Given the description of an element on the screen output the (x, y) to click on. 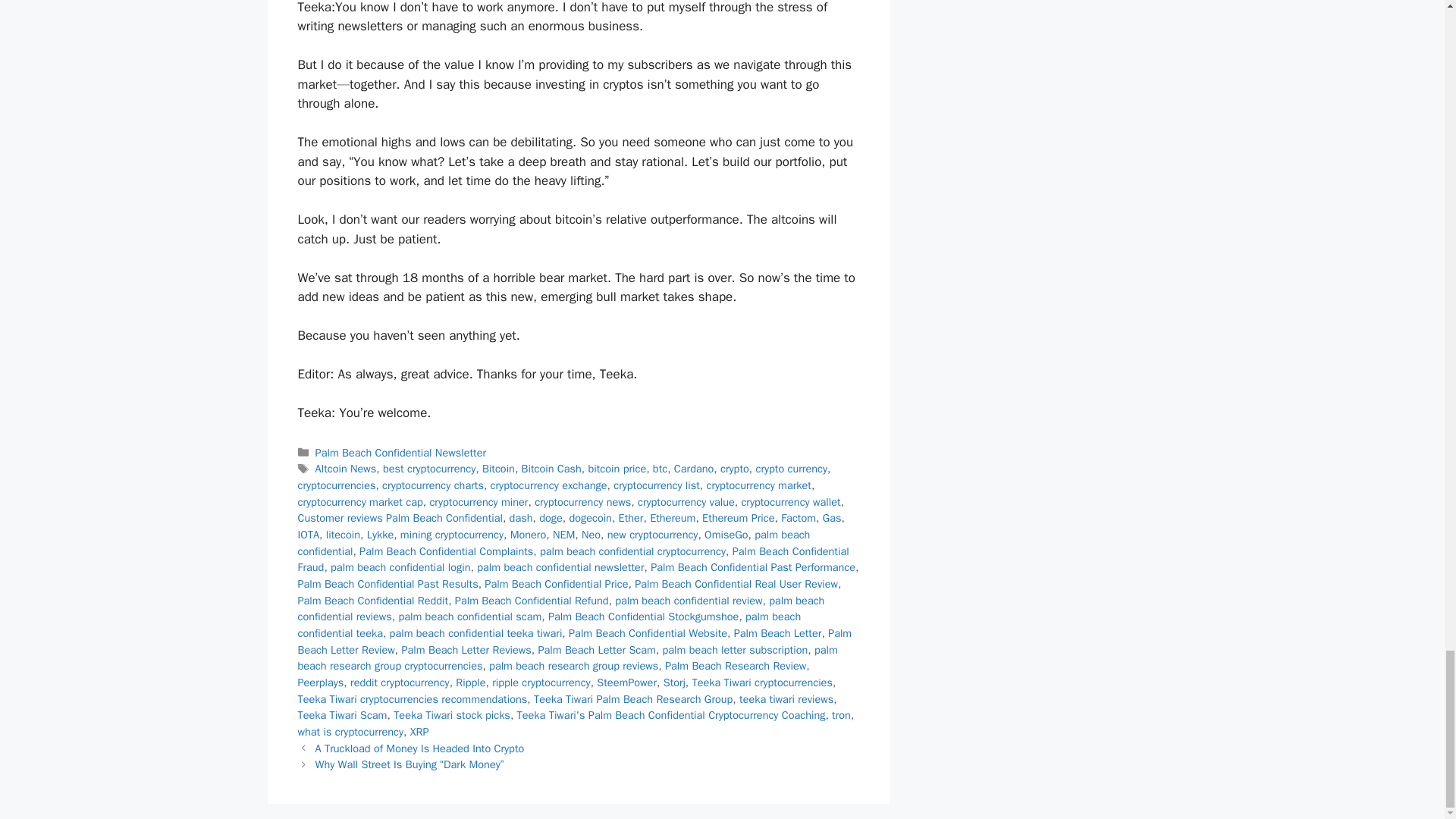
crypto currency (791, 468)
Palm Beach Confidential Newsletter (400, 452)
bitcoin price (617, 468)
Altcoin News (346, 468)
Cardano (693, 468)
cryptocurrency exchange (548, 485)
Bitcoin Cash (550, 468)
Bitcoin (498, 468)
best cryptocurrency (429, 468)
btc (659, 468)
